Given the description of an element on the screen output the (x, y) to click on. 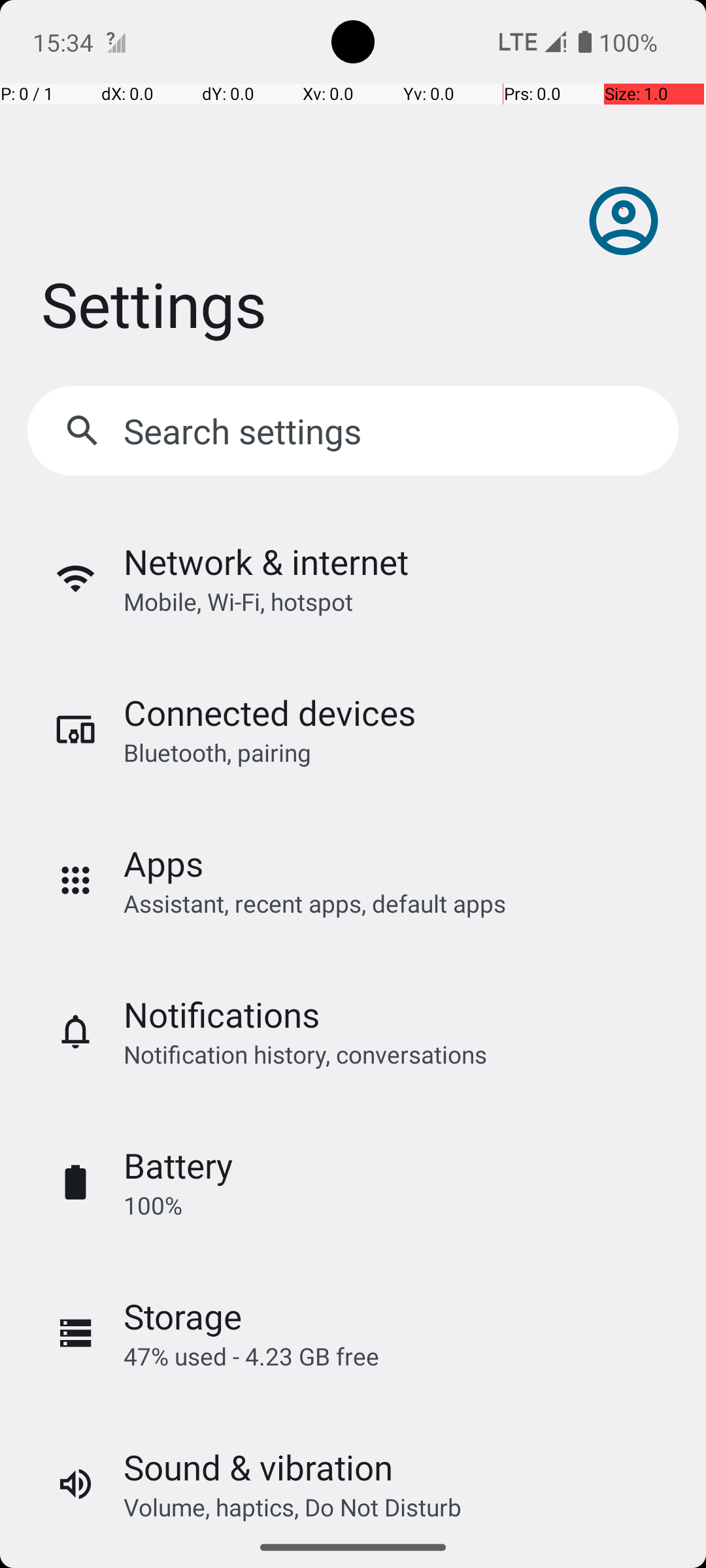
47% used - 4.23 GB free Element type: android.widget.TextView (251, 1355)
